Given the description of an element on the screen output the (x, y) to click on. 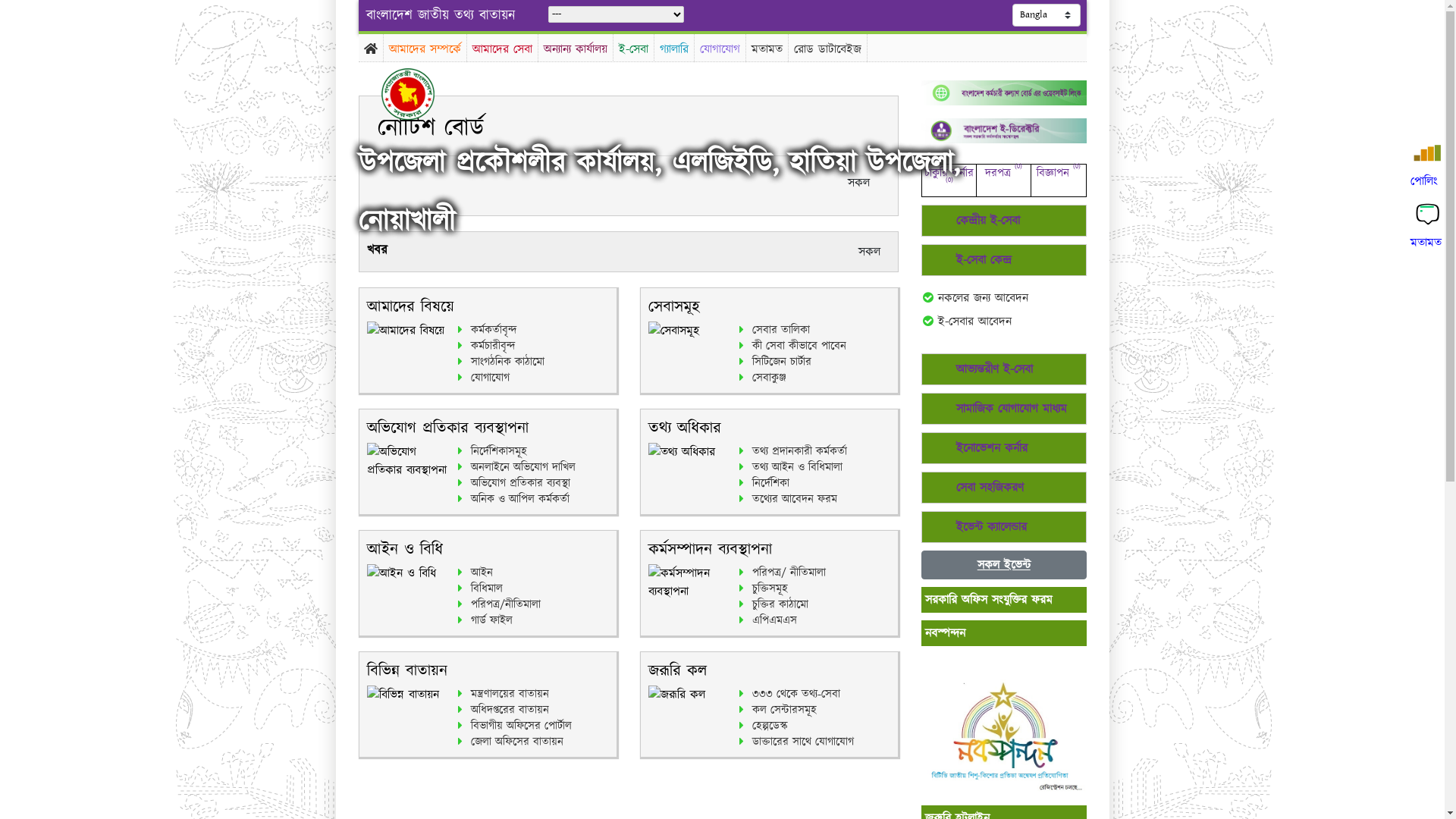

                
             Element type: hover (420, 93)
